Given the description of an element on the screen output the (x, y) to click on. 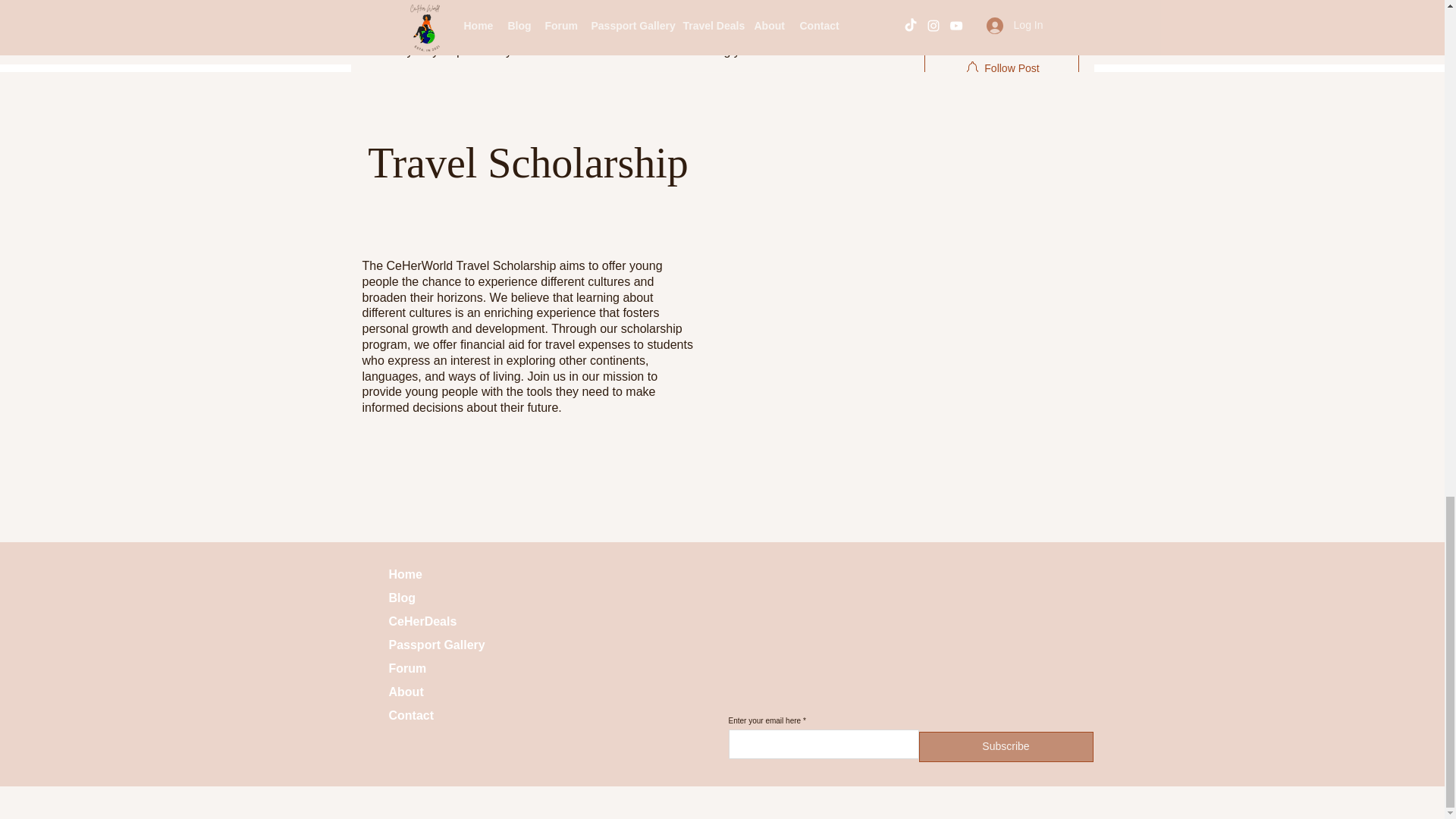
Passport Gallery (441, 644)
About (441, 692)
Contact (441, 715)
Share (451, 493)
Blog (441, 598)
Home (441, 574)
Write a comment... (632, 594)
Forum (441, 668)
Subscribe (1005, 747)
CeHerDeals (441, 621)
